Given the description of an element on the screen output the (x, y) to click on. 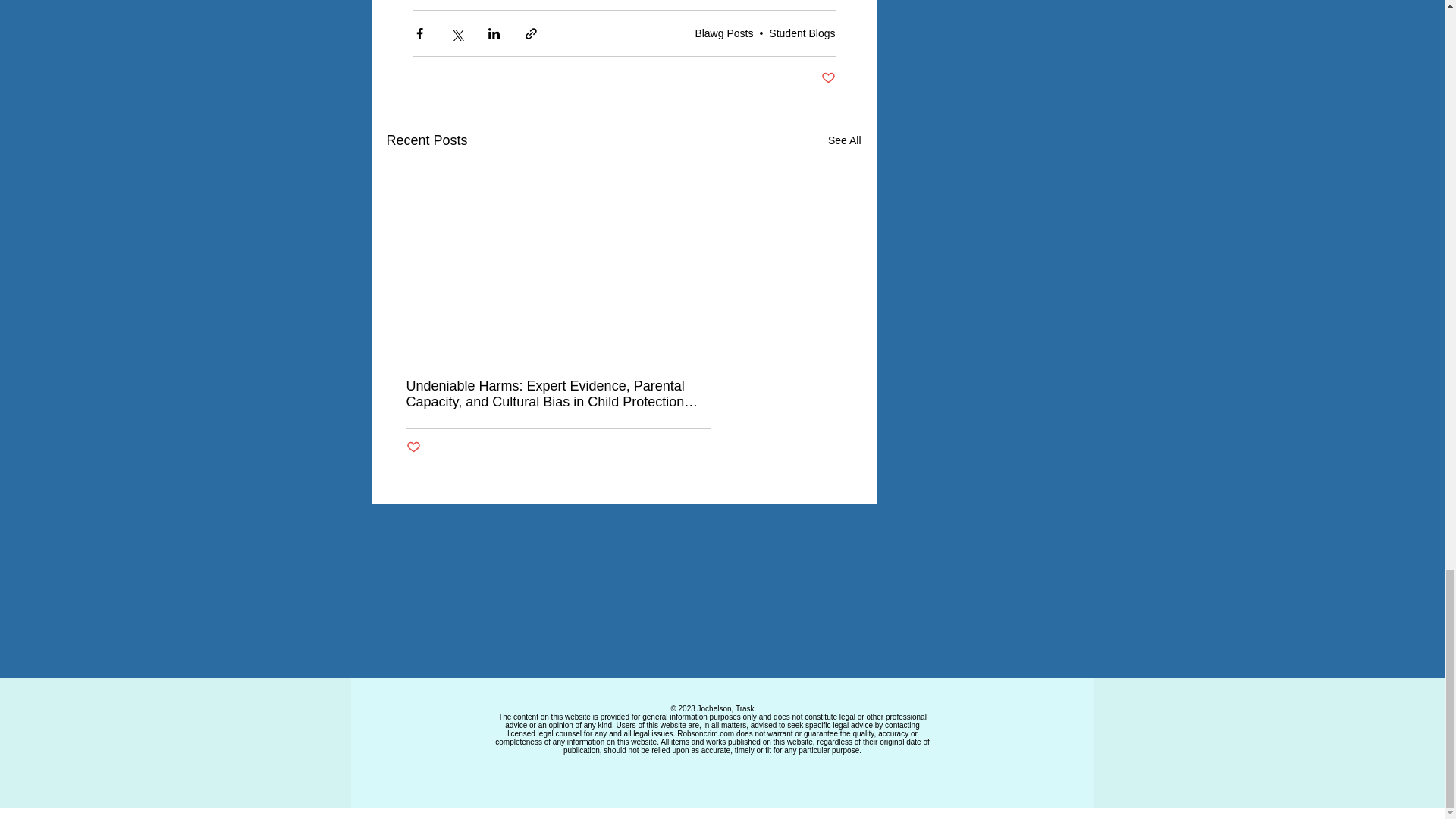
Student Blogs (801, 33)
Post not marked as liked (827, 78)
Blawg Posts (723, 33)
See All (844, 140)
Post not marked as liked (413, 447)
